Given the description of an element on the screen output the (x, y) to click on. 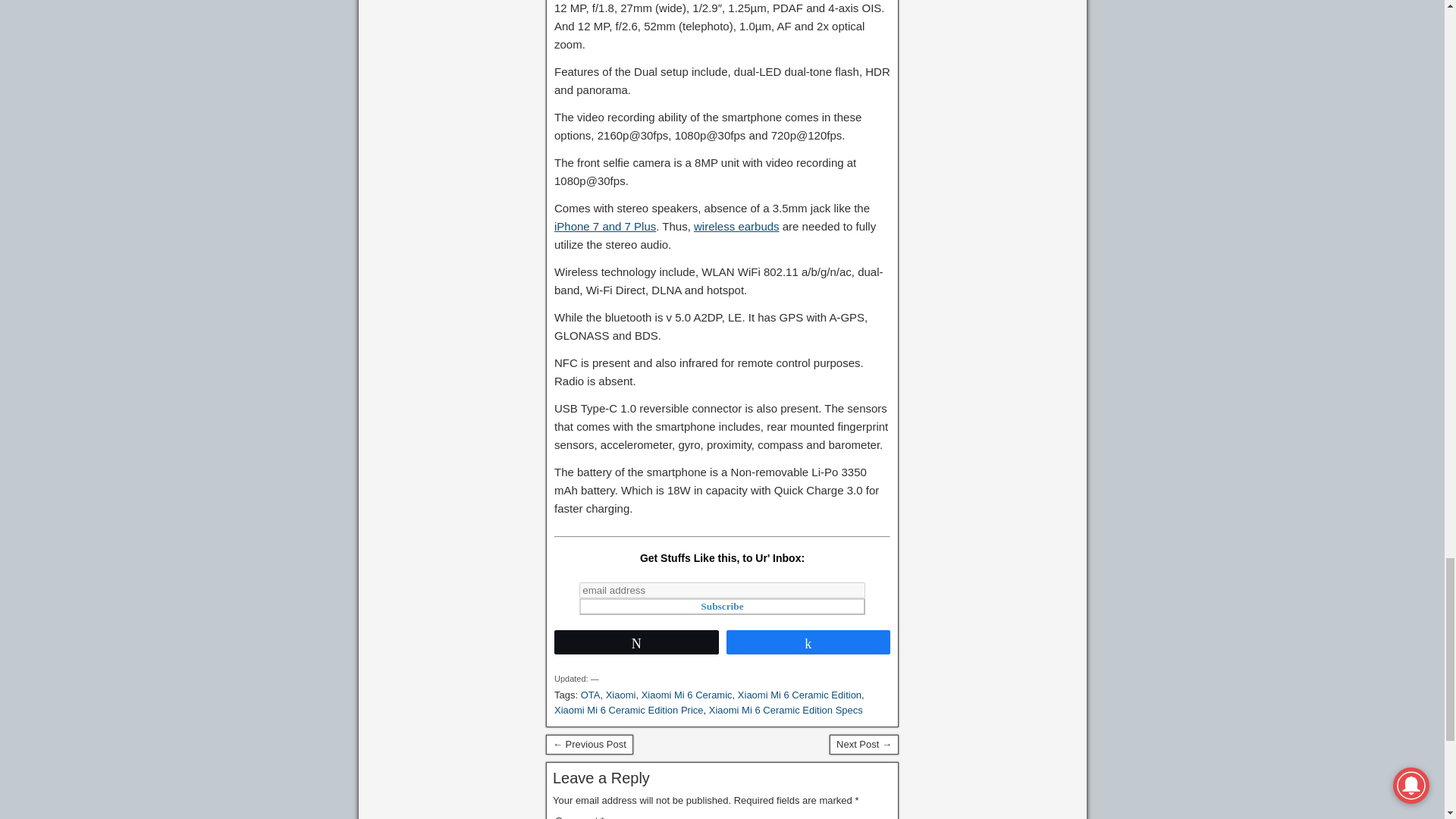
Subscribe (721, 606)
Xiaomi (620, 695)
Subscribe (721, 606)
OTA (589, 695)
Xiaomi Mi 6 Ceramic Edition Specs (786, 709)
Xiaomi Mi 6 Ceramic Edition (799, 695)
wireless earbuds (736, 226)
Xiaomi Mi 6 Ceramic (687, 695)
Xiaomi Mi 6 Ceramic Edition Price (628, 709)
iPhone 7 and 7 Plus (605, 226)
